Given the description of an element on the screen output the (x, y) to click on. 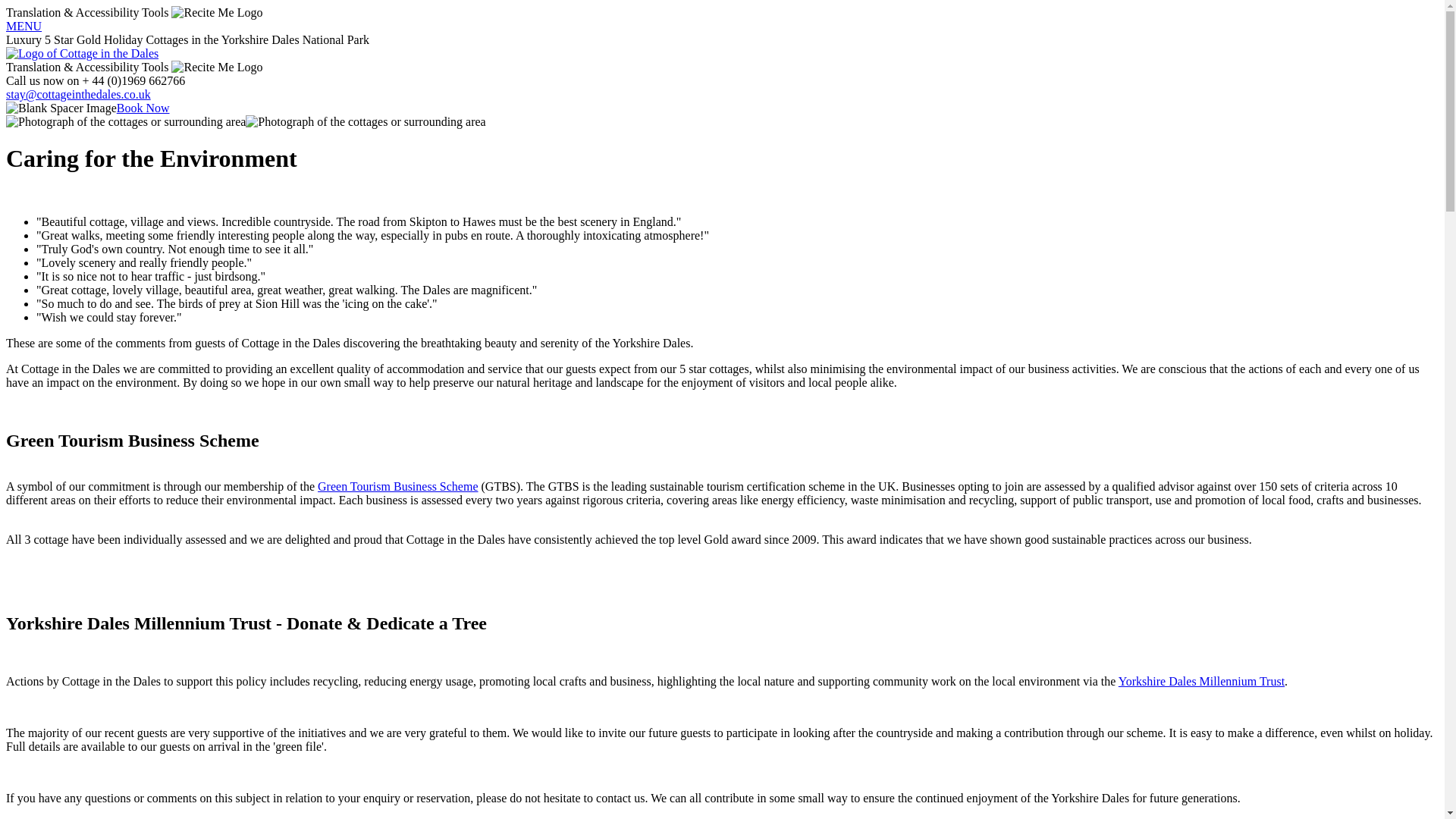
MENU (23, 25)
Yorkshire Dales Millennium Trust (1201, 680)
Green Tourism Business Scheme (397, 486)
Book Now (143, 107)
